Given the description of an element on the screen output the (x, y) to click on. 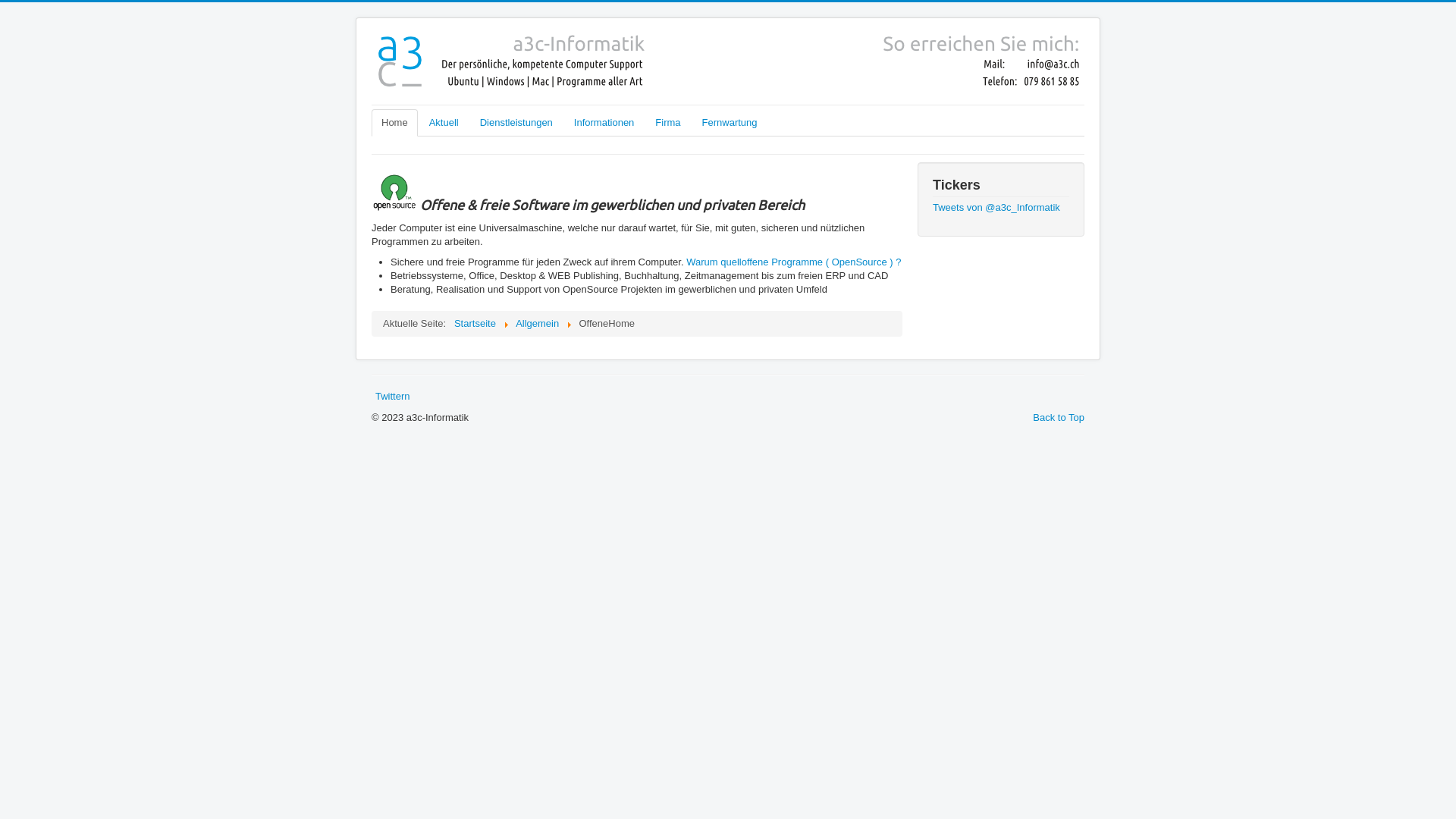
Fernwartung Element type: text (729, 122)
Aktuell Element type: text (443, 122)
Dienstleistungen Element type: text (516, 122)
Twittern Element type: text (392, 395)
Firma Element type: text (667, 122)
Home Element type: text (394, 122)
Informationen Element type: text (604, 122)
Allgemein Element type: text (536, 323)
Startseite Element type: text (474, 323)
Tweets von @a3c_Informatik Element type: text (996, 207)
Warum quelloffene Programme ( OpenSource ) ? Element type: text (793, 261)
Back to Top Element type: text (1058, 417)
